Given the description of an element on the screen output the (x, y) to click on. 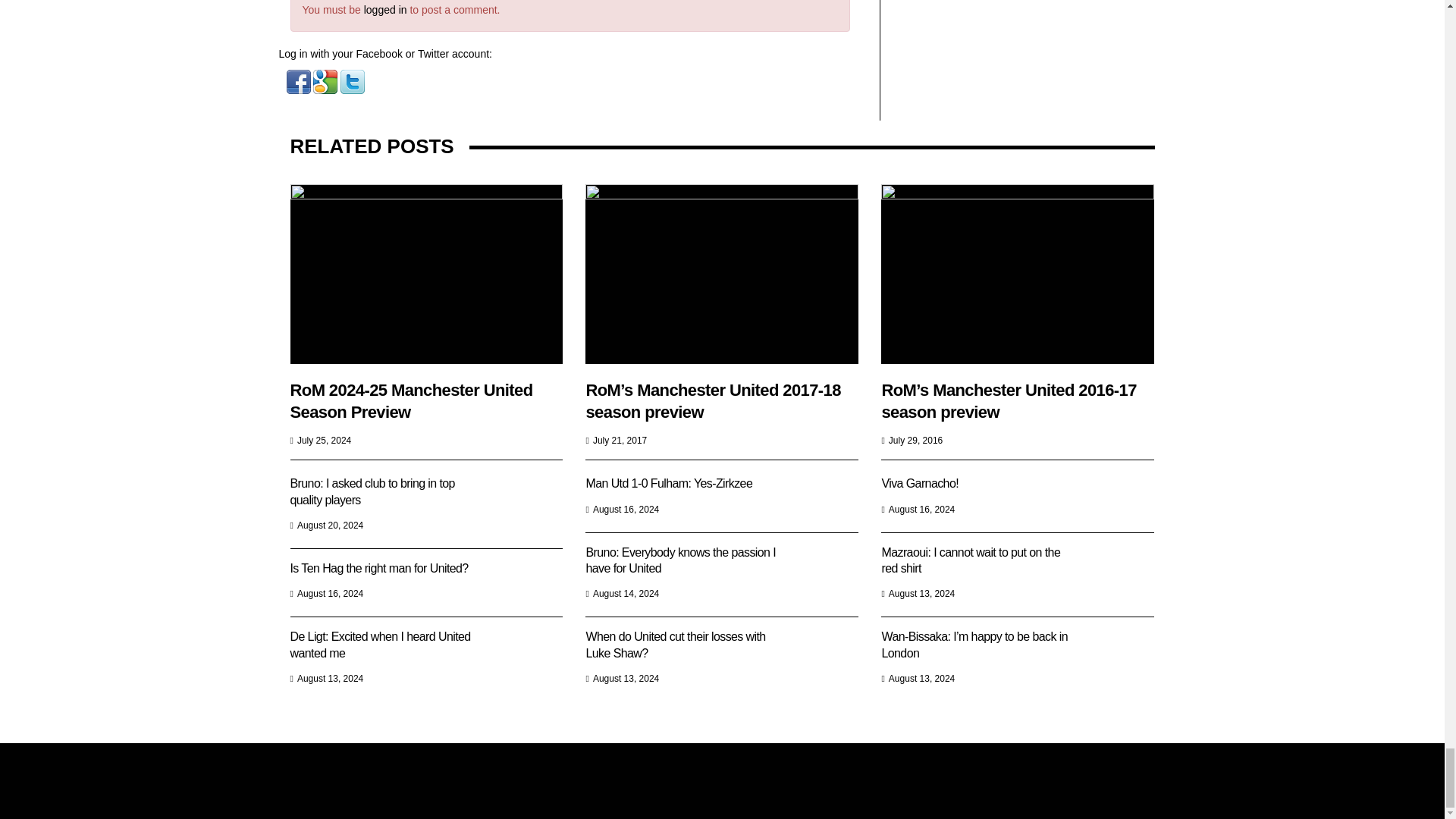
Connect with Facebook (300, 80)
Connect with Twitter (352, 80)
RoM 2024-25 Manchester United Season Preview (425, 273)
Connect with Google (326, 80)
